Given the description of an element on the screen output the (x, y) to click on. 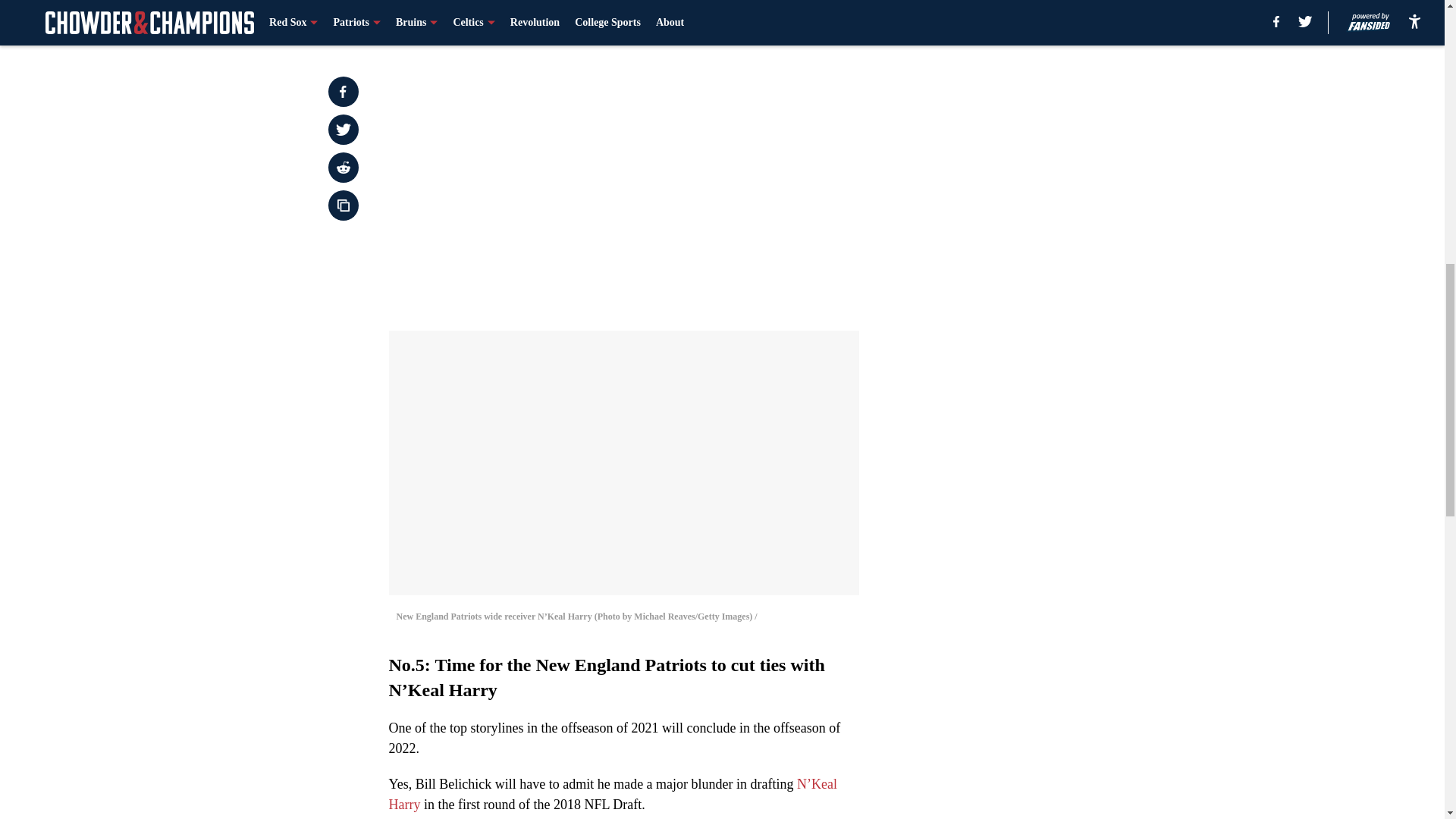
Next (813, 20)
Prev (433, 20)
